Given the description of an element on the screen output the (x, y) to click on. 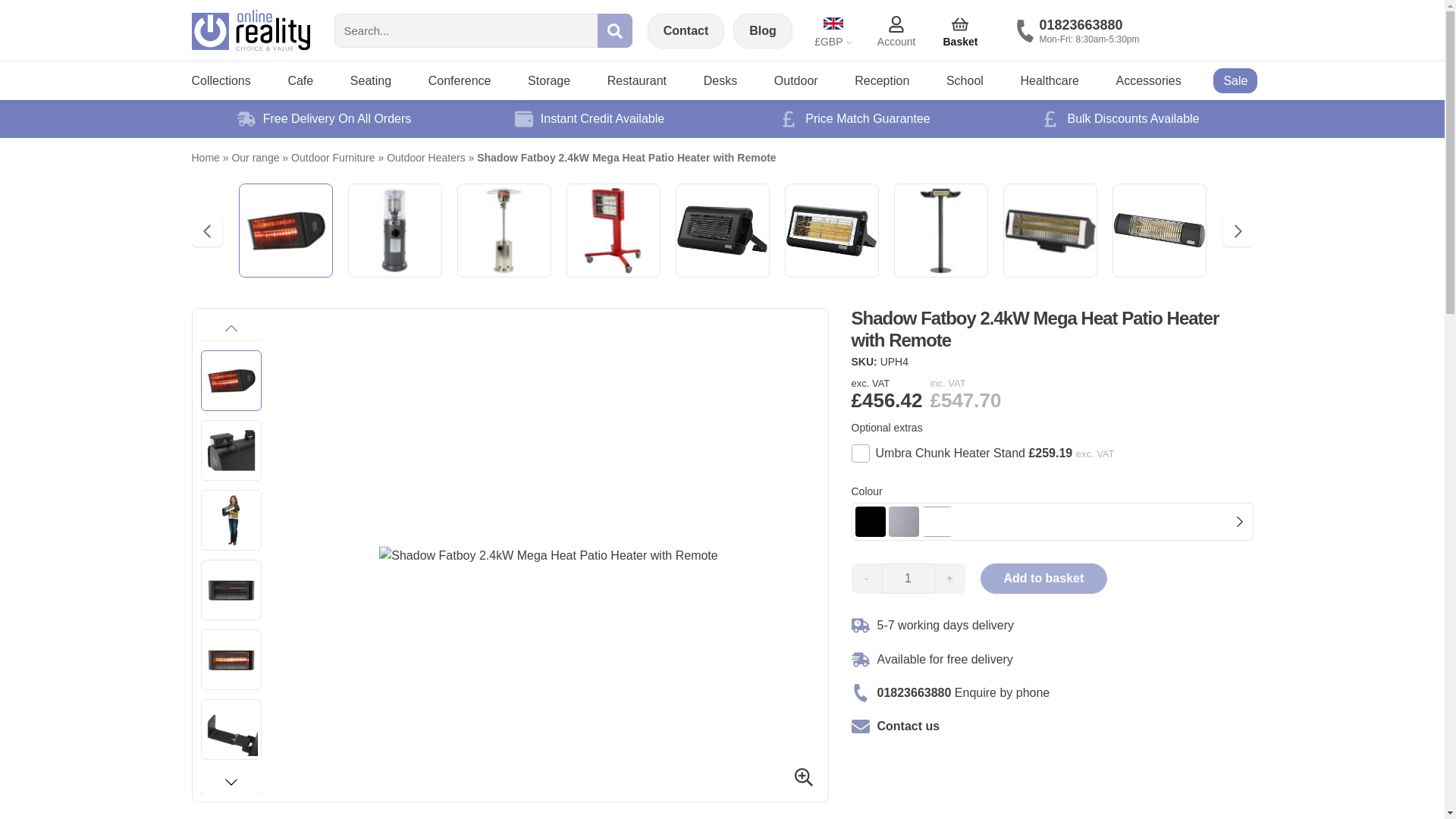
Blog (762, 30)
Cafe (299, 80)
1 (907, 578)
Homepage (249, 29)
Customer reviews powered by Trustpilot (1214, 33)
Contact (686, 30)
Collections (220, 80)
Search (613, 30)
Collections (220, 80)
